Given the description of an element on the screen output the (x, y) to click on. 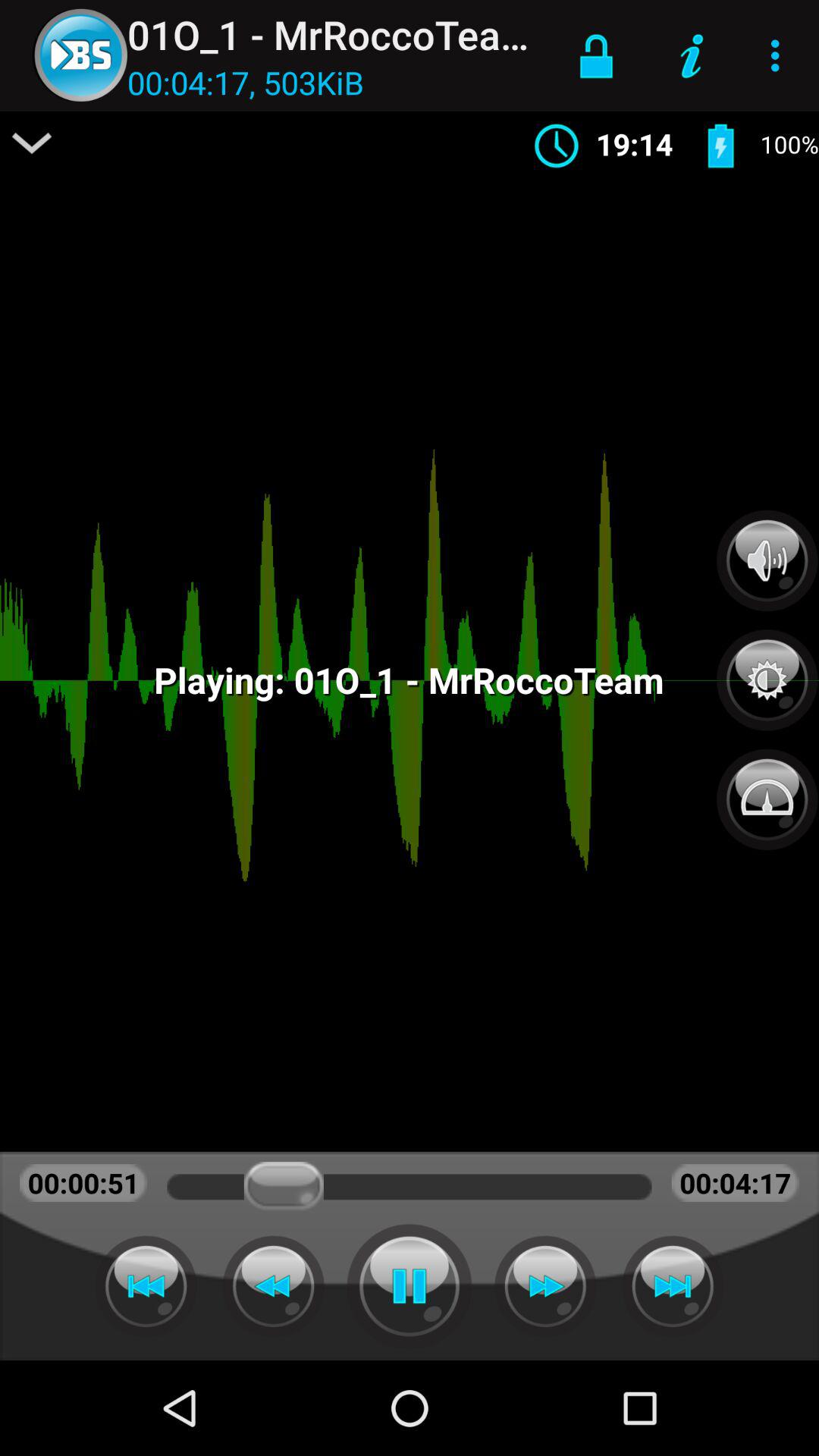
minimize screen (31, 143)
